Given the description of an element on the screen output the (x, y) to click on. 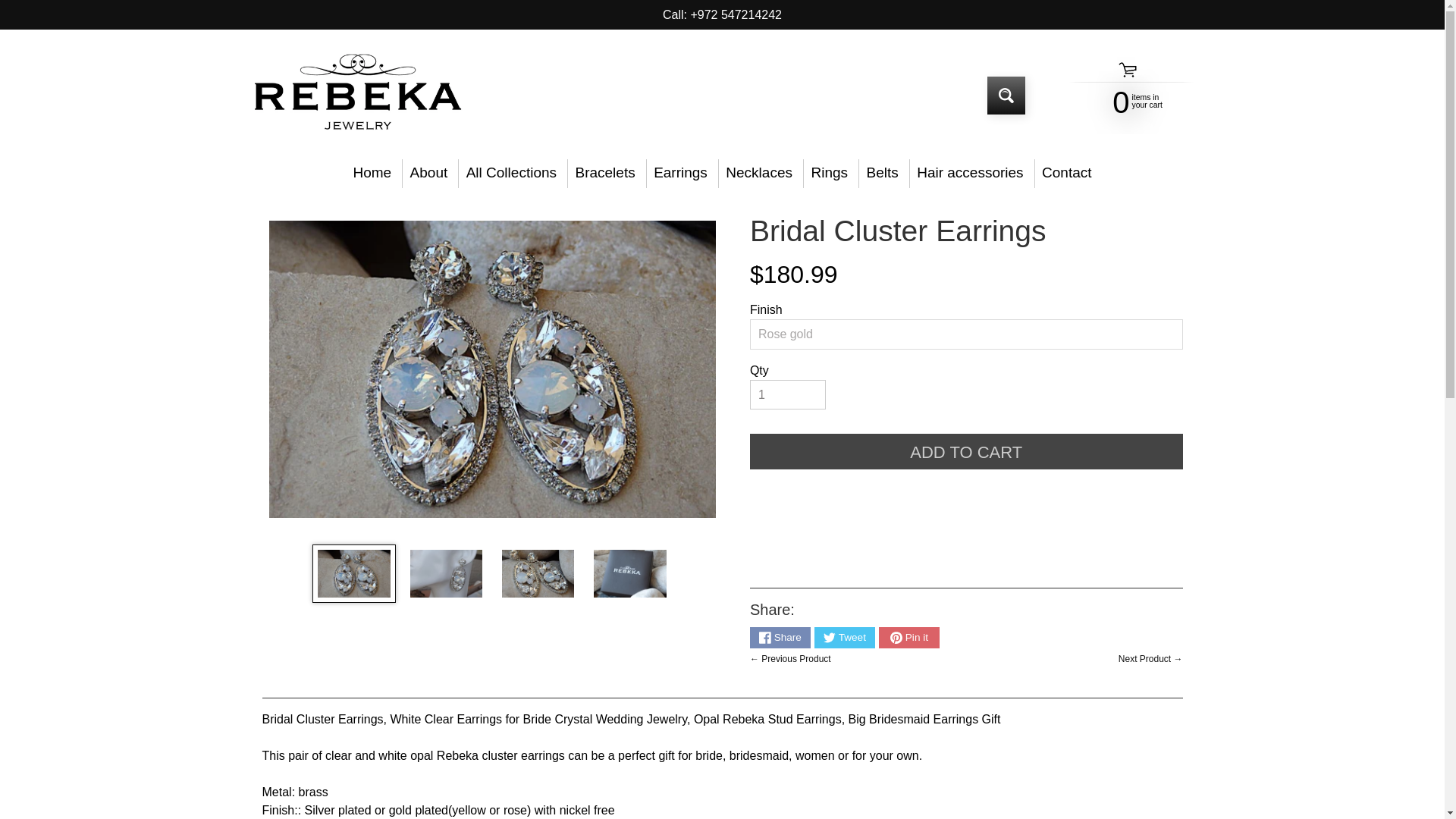
Hair accessories (970, 173)
1 (787, 395)
Rings (829, 173)
Bridal Cluster Earrings (629, 573)
Bridal Cluster Earrings (537, 573)
Rebekajewelry (356, 95)
Contact (1067, 173)
Earrings (680, 173)
Bridal Cluster Earrings (353, 573)
Bracelets (604, 173)
About (428, 173)
SKIP TO CONTENT (22, 8)
Home (372, 173)
Necklaces (759, 173)
Bridal Cluster Earrings (445, 573)
